Given the description of an element on the screen output the (x, y) to click on. 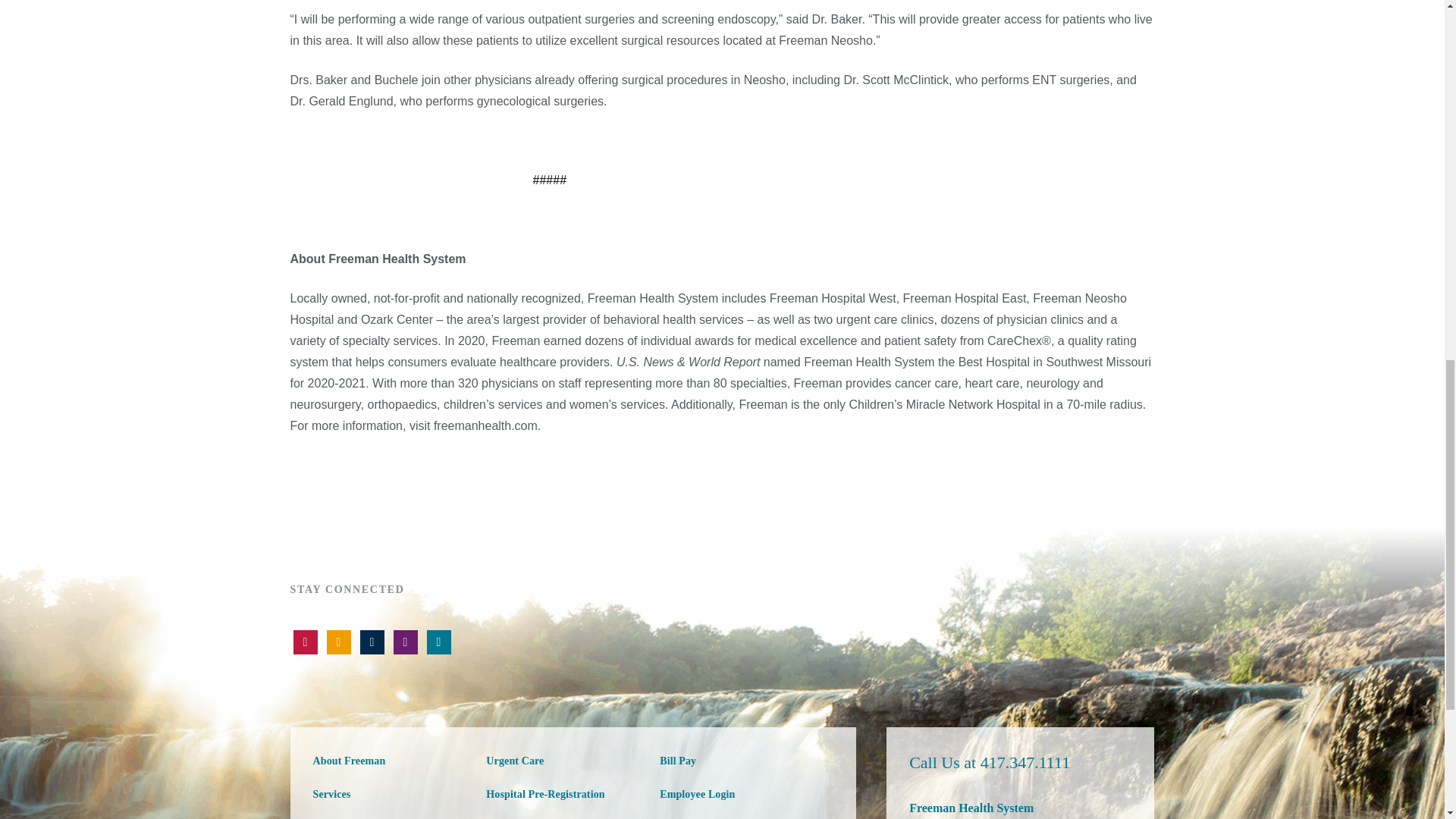
Instagram (437, 641)
Youtube (304, 641)
Twitter (338, 641)
Facebook (371, 641)
Instagram (404, 641)
